Given the description of an element on the screen output the (x, y) to click on. 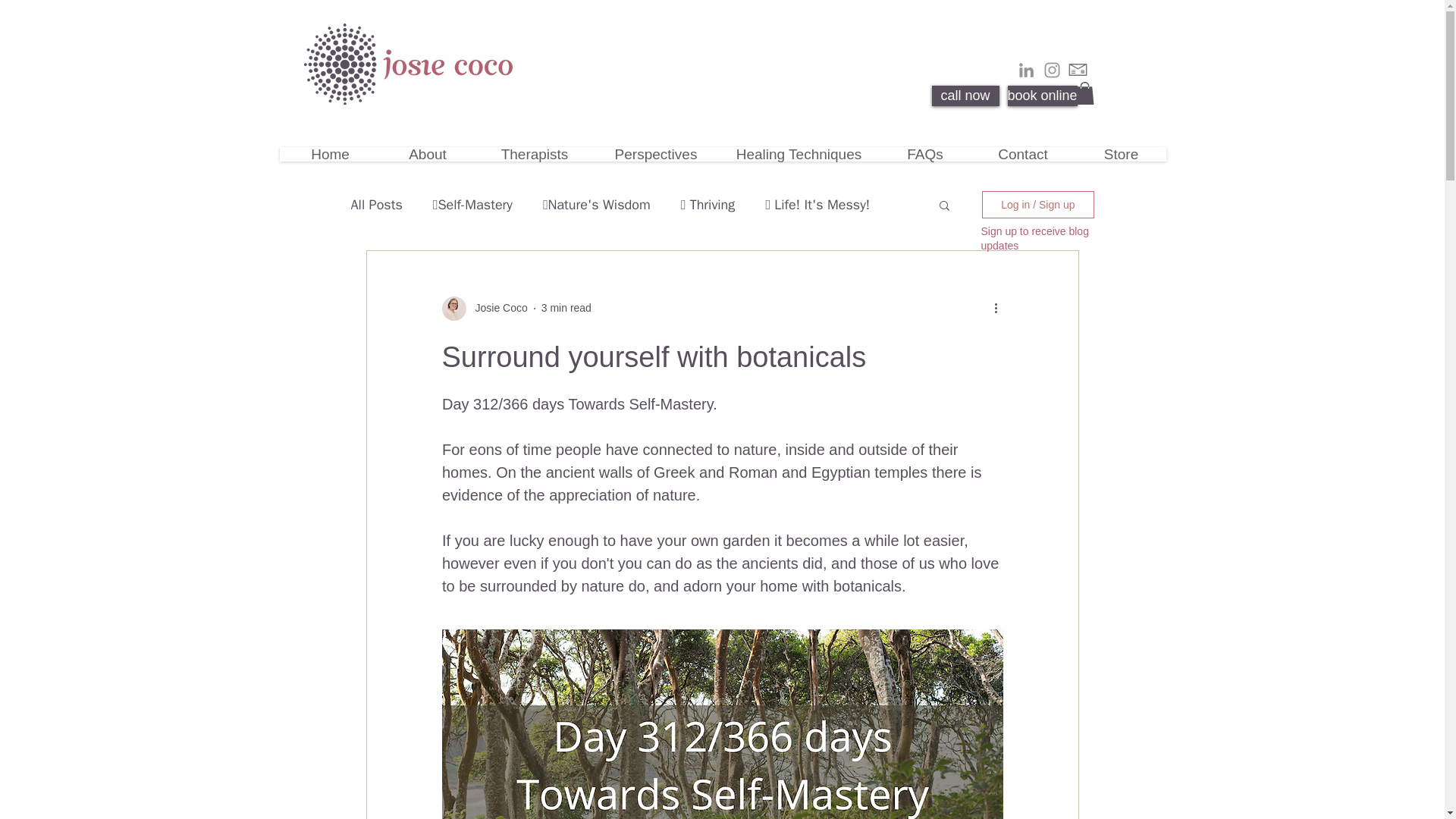
Store (1121, 153)
Contact (1023, 153)
book online (1042, 95)
Perspectives (655, 153)
About (427, 153)
FAQs (924, 153)
3 min read (566, 307)
Josie Coco (496, 308)
Therapists (534, 153)
All Posts (375, 204)
